Given the description of an element on the screen output the (x, y) to click on. 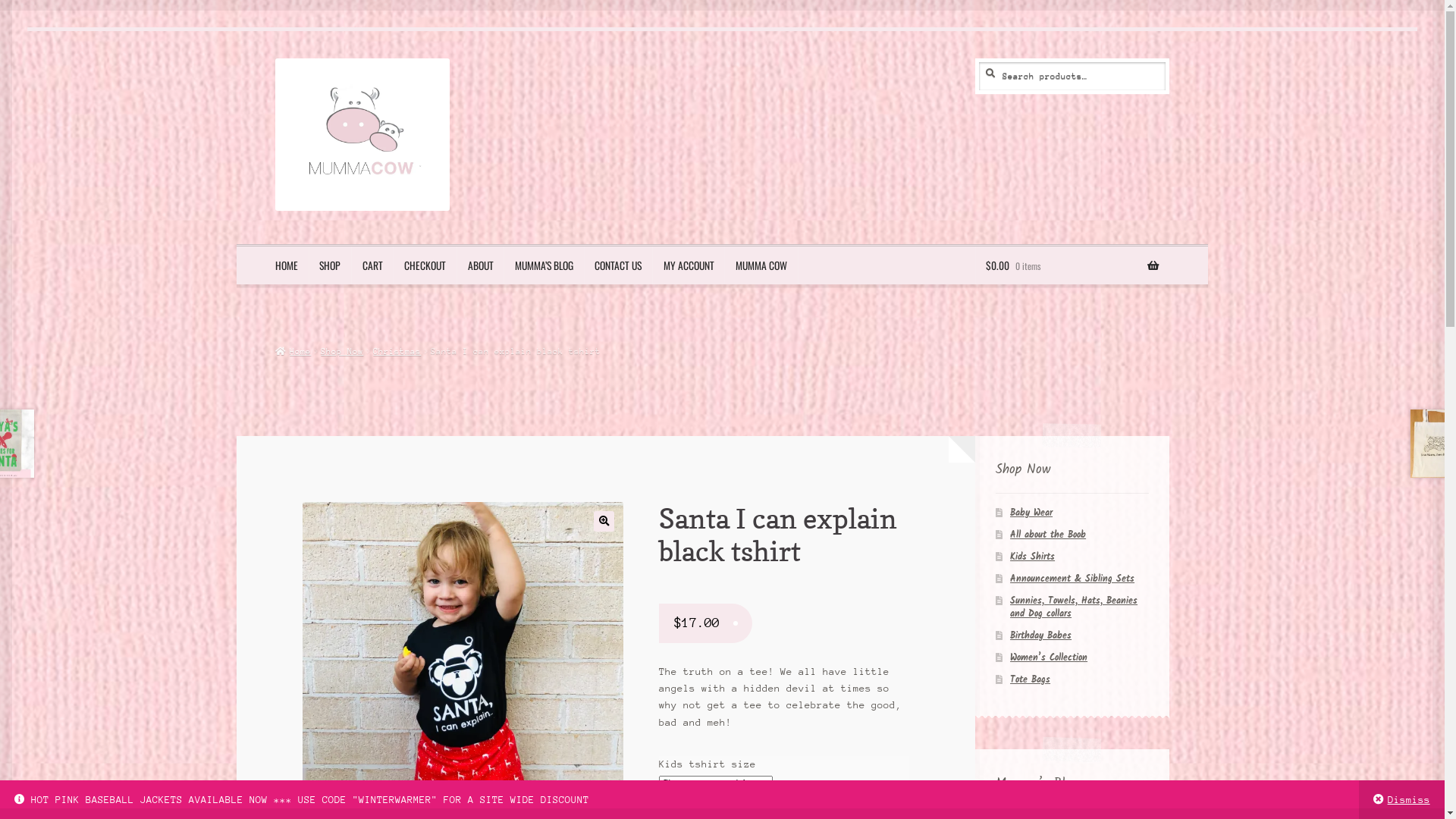
CART Element type: text (371, 265)
CONTACT US Element type: text (618, 265)
Tote Bags Element type: text (1030, 679)
Home Element type: text (292, 350)
All about the Boob Element type: text (1047, 534)
Birthday Babes Element type: text (1040, 635)
MY ACCOUNT Element type: text (688, 265)
SHOP Element type: text (330, 265)
Skip to navigation Element type: text (274, 57)
Announcement & Sibling Sets Element type: text (1072, 578)
Baby Wear Element type: text (1031, 512)
Shop Now Element type: text (341, 350)
MUMMA COW Element type: text (760, 265)
$0.00 0 items Element type: text (1072, 265)
CHECKOUT Element type: text (424, 265)
Search Element type: text (974, 57)
Kids Shirts Element type: text (1032, 556)
ABOUT Element type: text (480, 265)
Sunnies, Towels, Hats, Beanies and Dog collars Element type: text (1073, 607)
HOME Element type: text (285, 265)
Christmas Element type: text (396, 350)
